Given the description of an element on the screen output the (x, y) to click on. 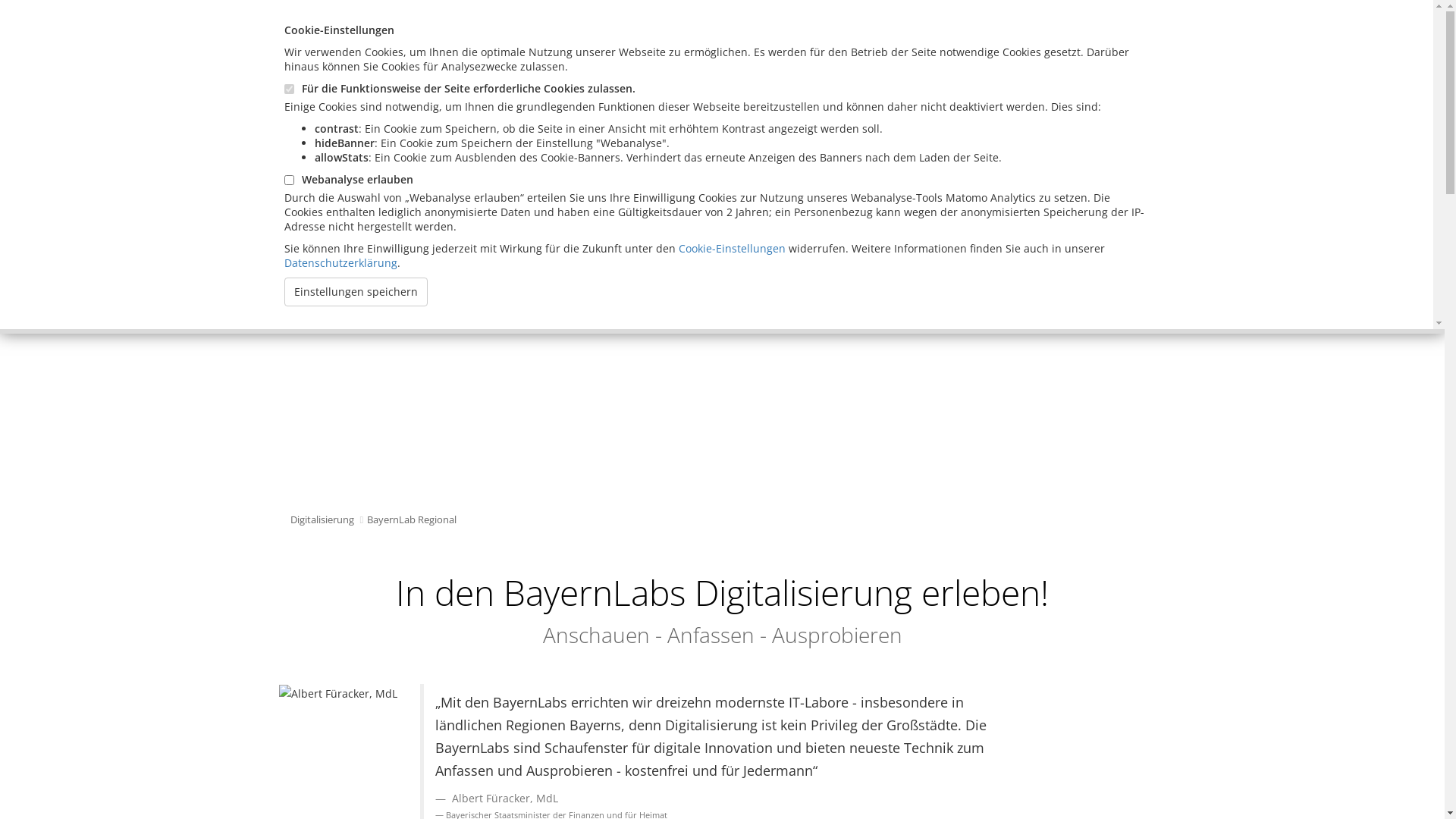
englisch Element type: text (473, 24)
Job & Karriere Element type: text (938, 161)
Kontrast-Ansicht Element type: hover (713, 24)
Startseite Element type: text (320, 24)
Vermessung Element type: text (537, 161)
Presse Element type: text (850, 161)
Facebook-Channel der Bayerischen Vermessungsverwaltung Element type: hover (456, 77)
Cookie-Einstellungen Element type: text (731, 248)
Einstellungen speichern Element type: text (355, 291)
Service Element type: text (781, 161)
Leichte Sprache Element type: hover (692, 24)
Breitband Element type: text (446, 161)
Instagram-Channel der Bayerischen Vermessungsverwaltung Element type: hover (458, 104)
Produkte Element type: text (706, 161)
Glossar Element type: text (422, 24)
Digitalisierung Element type: text (349, 161)
Aktuelles Element type: text (626, 161)
YouTube-Channel der Bayerischen Vermessungsverwaltung Element type: hover (454, 50)
Kontakt Element type: text (374, 24)
